Given the description of an element on the screen output the (x, y) to click on. 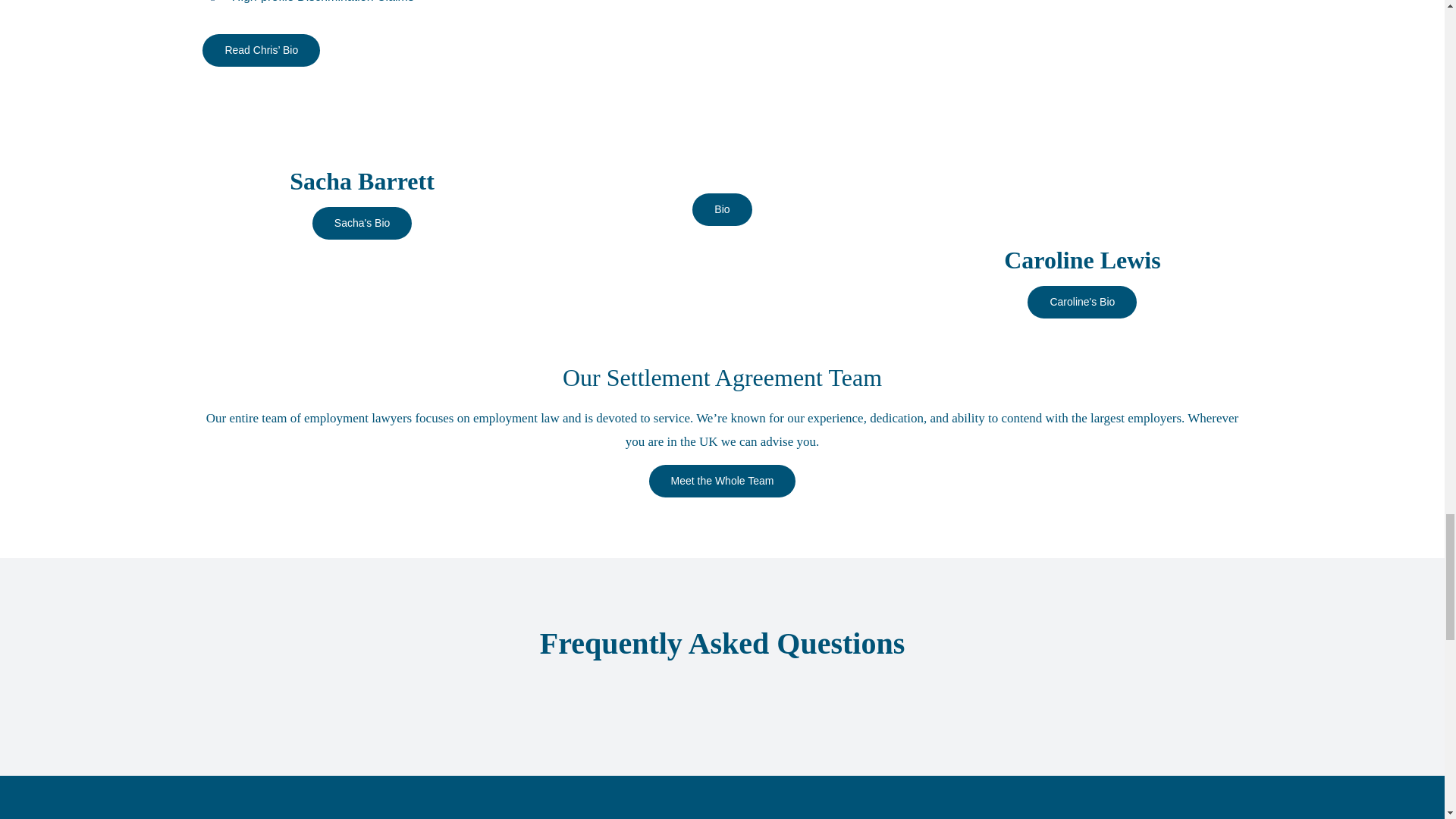
carolinelewis-profile picture-grey (1081, 160)
